Given the description of an element on the screen output the (x, y) to click on. 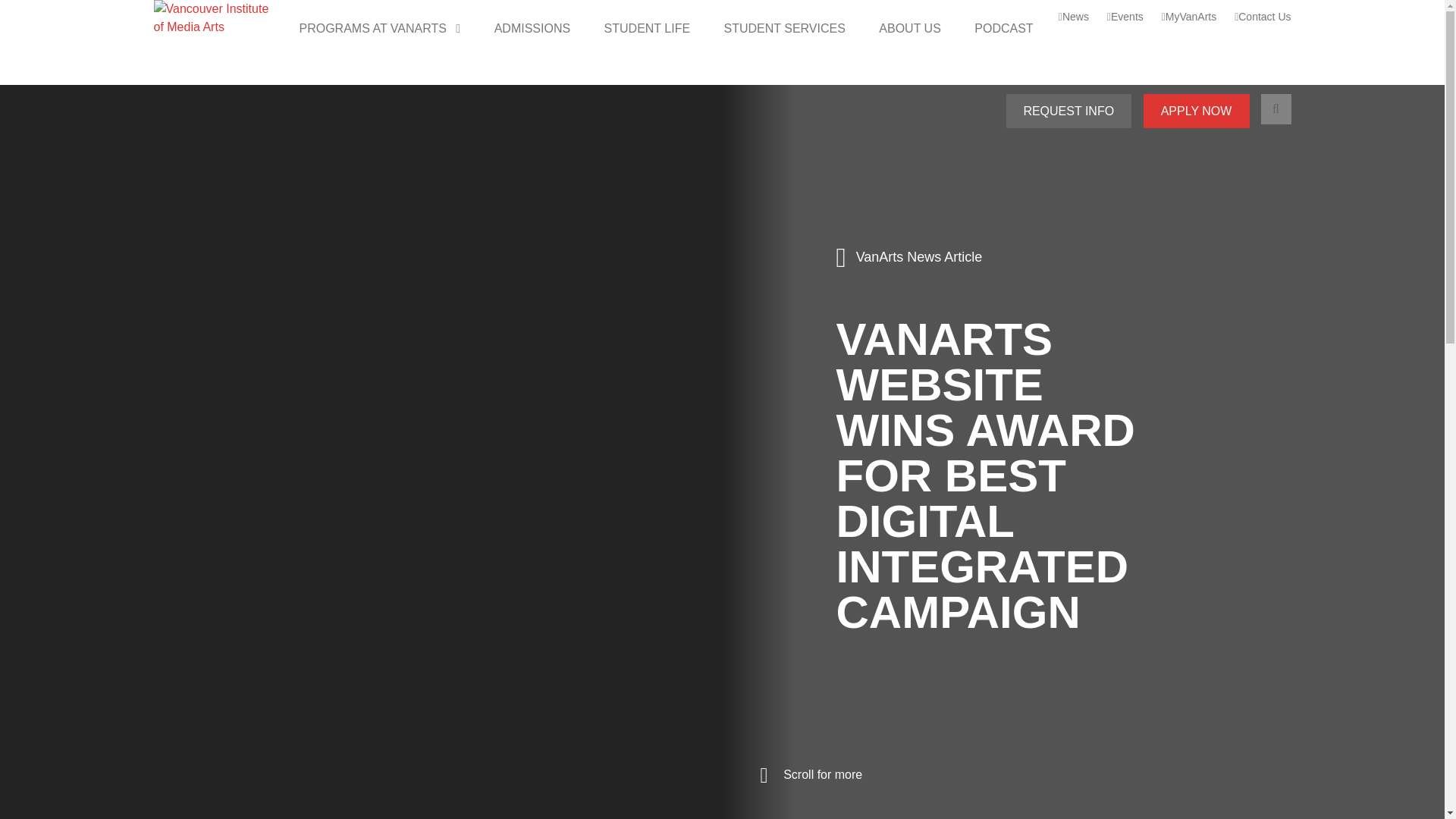
ABOUT US (909, 28)
Contact Us (1262, 17)
APPLY NOW (1195, 110)
PODCAST (1003, 28)
PROGRAMS AT VANARTS (379, 28)
vanarts-logo  (209, 18)
ADMISSIONS (532, 28)
Scroll for more (810, 775)
Events (1125, 17)
REQUEST INFO (1068, 110)
